Given the description of an element on the screen output the (x, y) to click on. 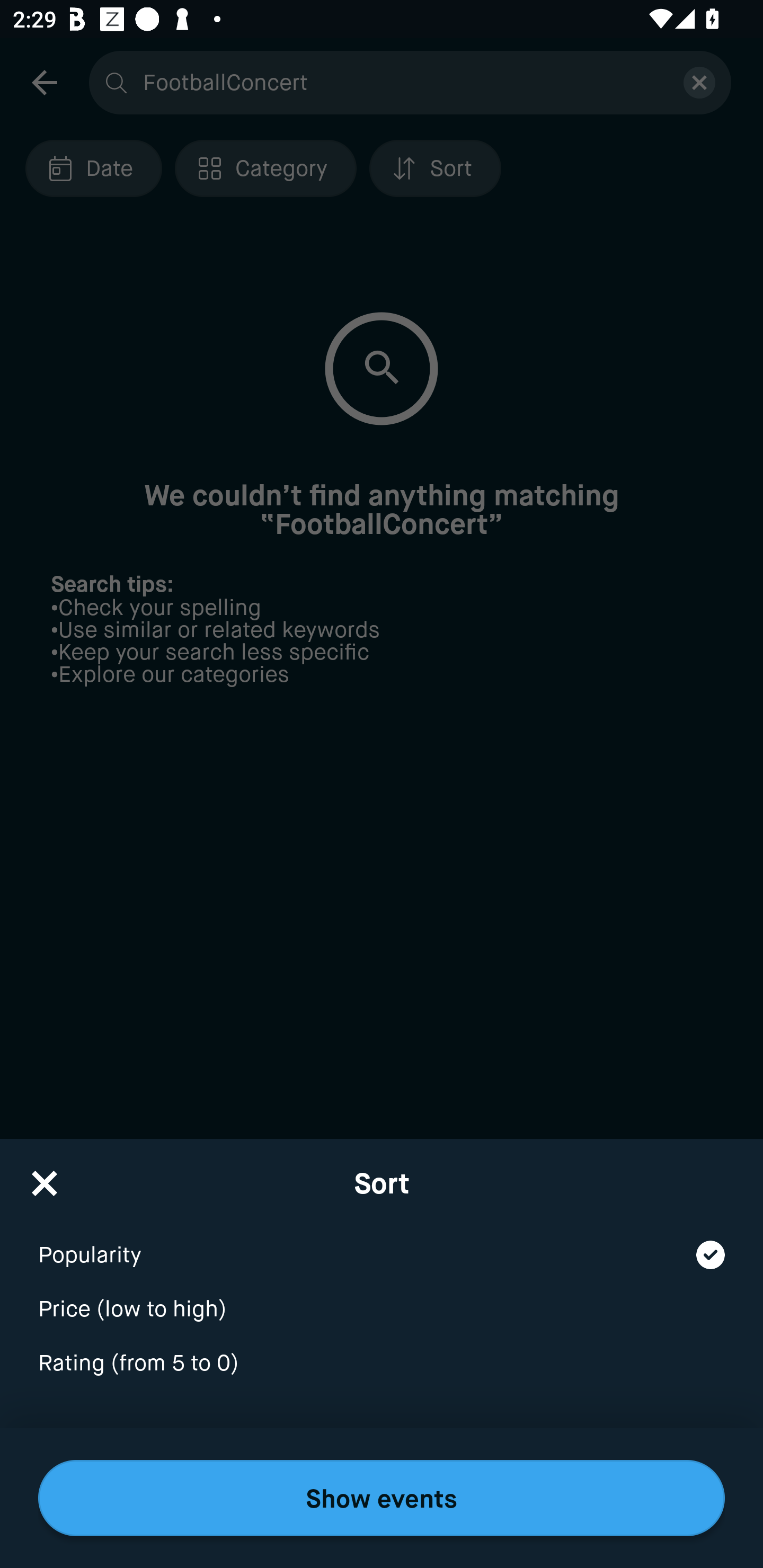
CloseButton (44, 1177)
Popularity Selected Icon (381, 1243)
Price (low to high) (381, 1297)
Rating (from 5 to 0) (381, 1362)
Show events (381, 1497)
